Given the description of an element on the screen output the (x, y) to click on. 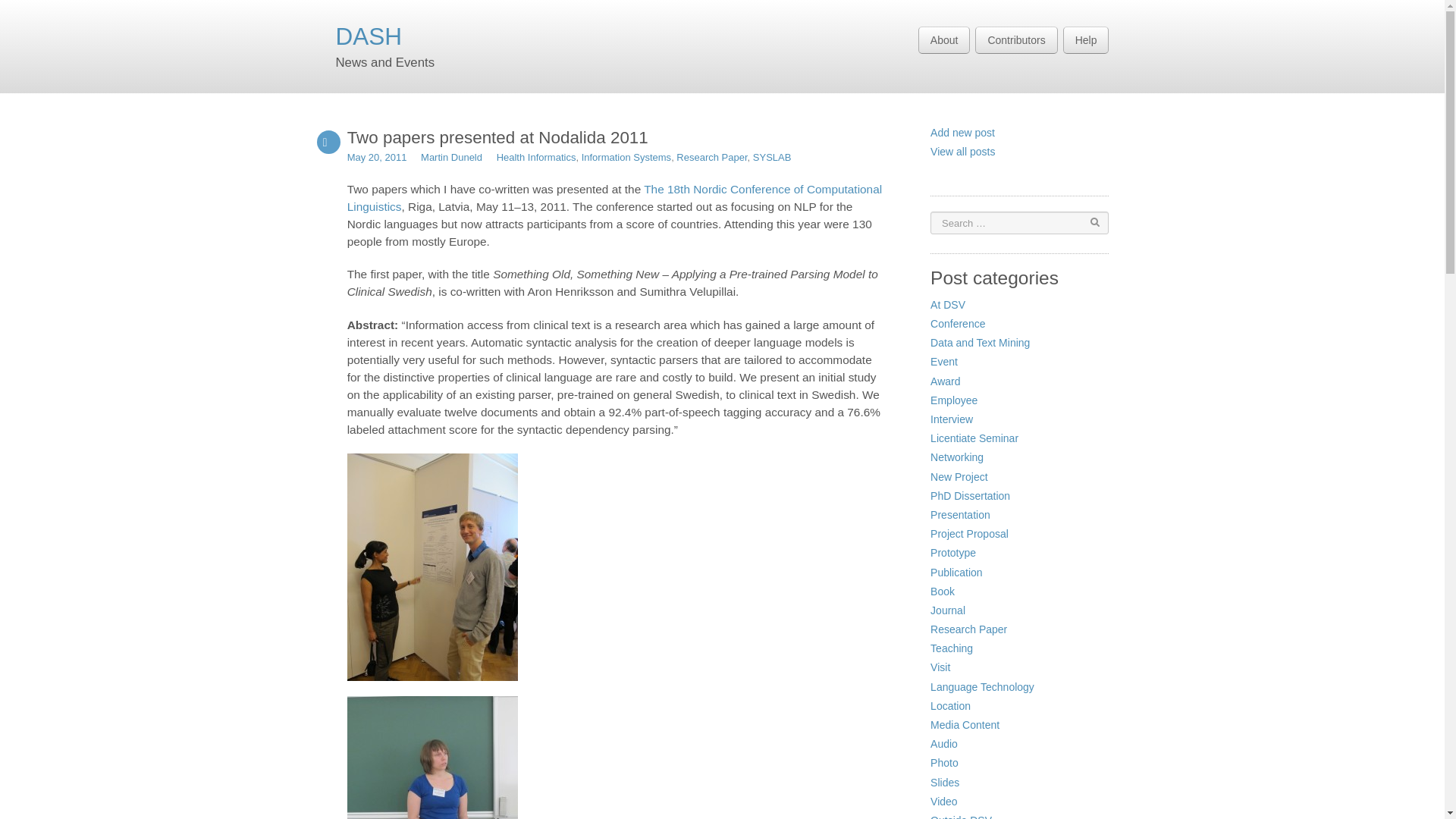
Award (944, 381)
Interview (951, 419)
Research Paper (711, 156)
09:50 (377, 156)
Information Systems (625, 156)
View all posts (962, 151)
View all posts by Martin Duneld (450, 156)
Data and Text Mining (979, 342)
Visit (940, 666)
SYSLAB (772, 156)
At DSV (947, 304)
Employee (953, 399)
Language Technology (981, 686)
Health Informatics (536, 156)
May 20, 2011 (377, 156)
